Given the description of an element on the screen output the (x, y) to click on. 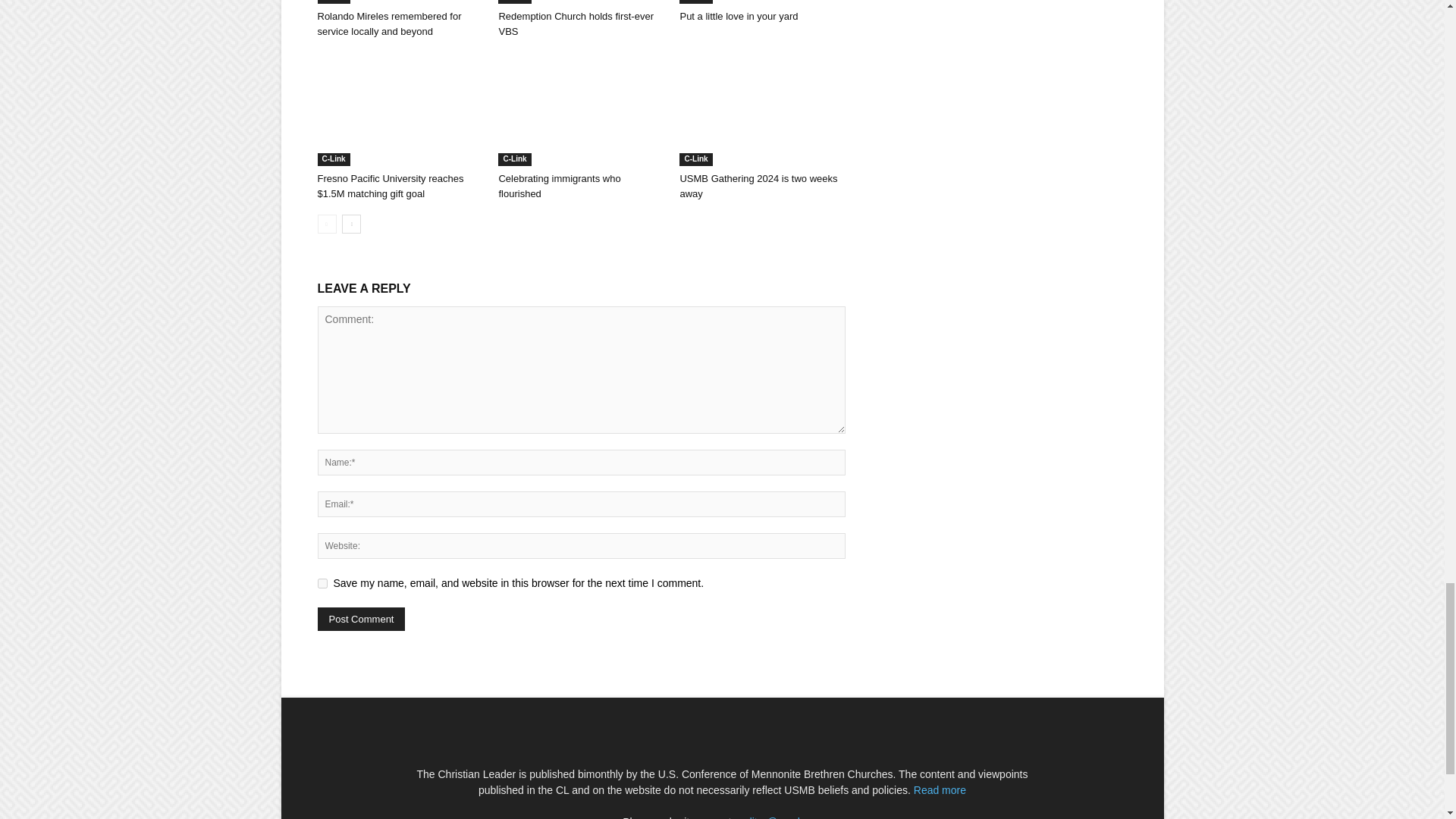
Post Comment (360, 618)
yes (321, 583)
